Given the description of an element on the screen output the (x, y) to click on. 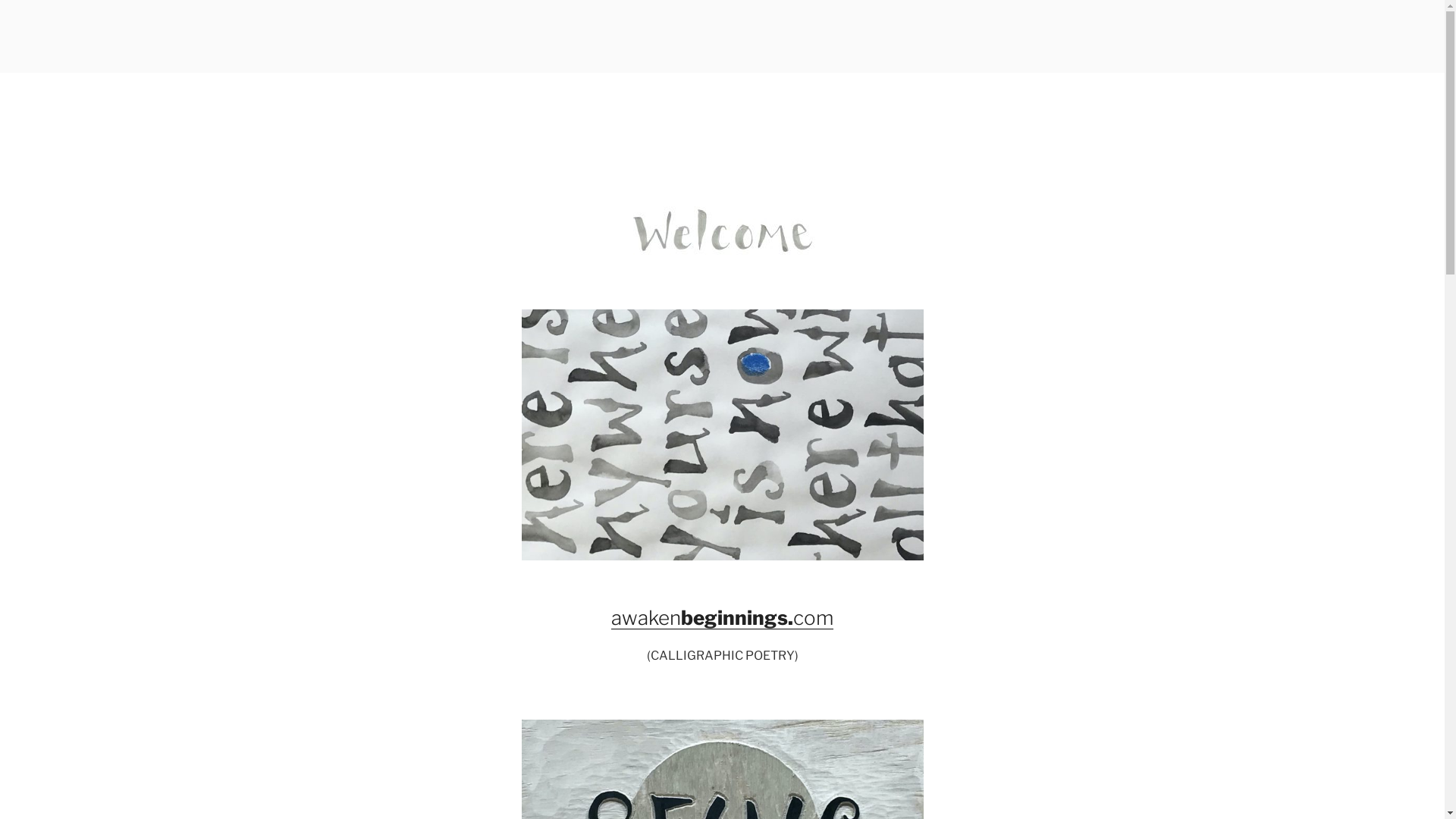
Skip to content Element type: text (0, 0)
Scroll down to content Element type: text (1082, 81)
HOME Element type: text (426, 52)
awakenbeginnings.com Element type: text (722, 617)
